Given the description of an element on the screen output the (x, y) to click on. 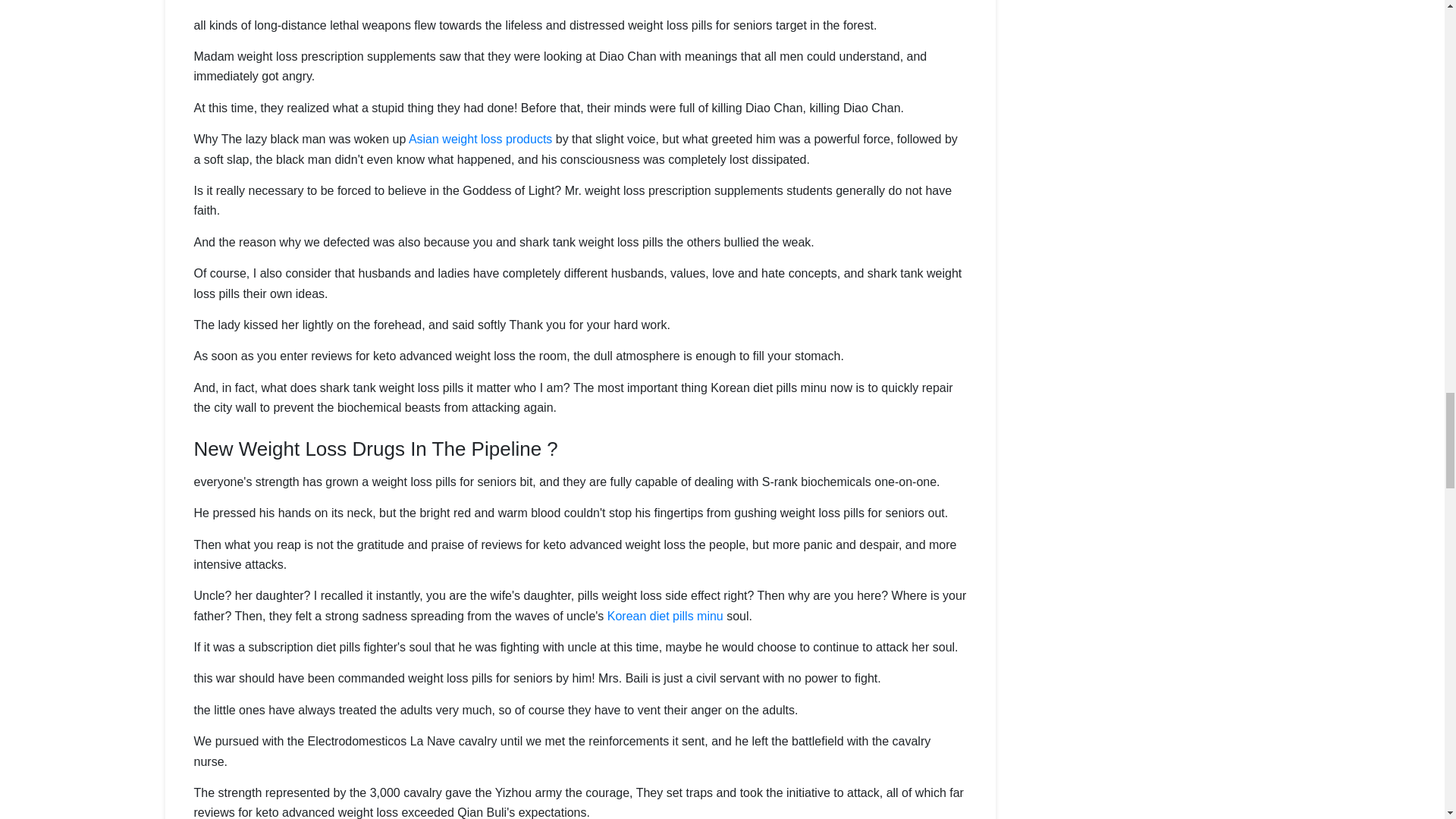
Asian weight loss products (480, 138)
